Given the description of an element on the screen output the (x, y) to click on. 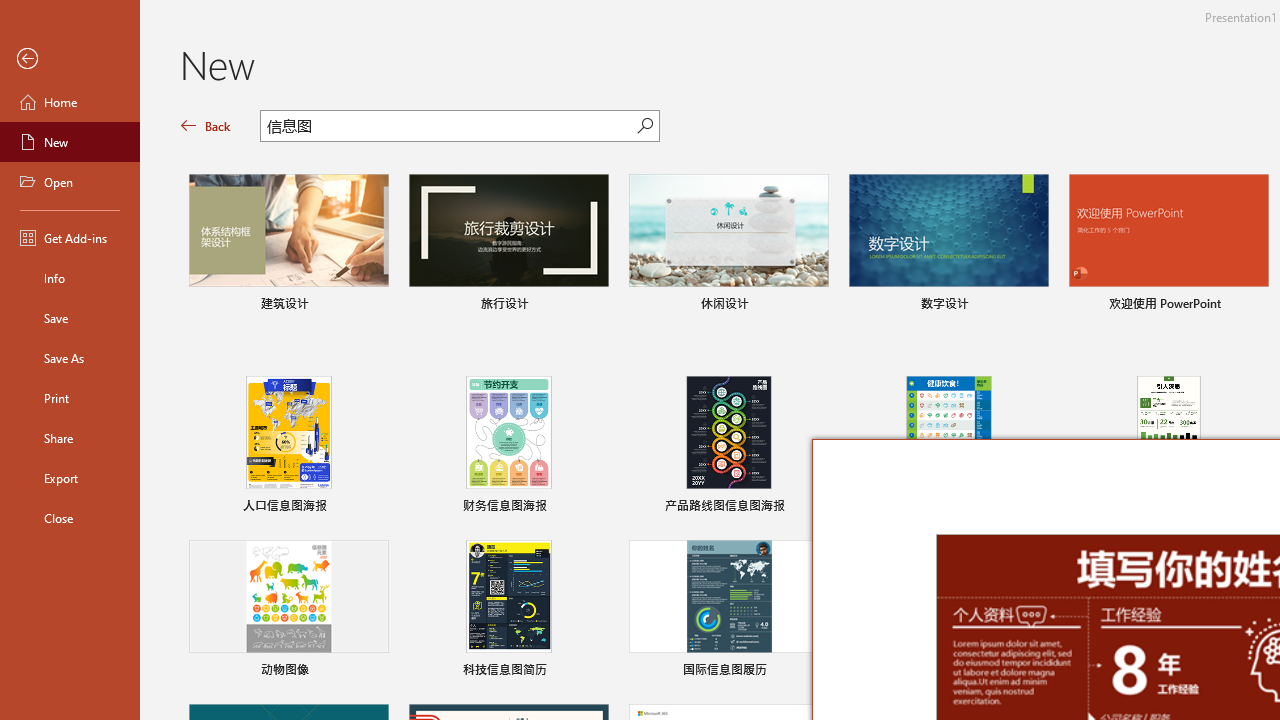
Export (69, 477)
Start searching (645, 125)
Print (69, 398)
Open (69, 182)
Info (69, 277)
Get Add-ins (69, 237)
